Given the description of an element on the screen output the (x, y) to click on. 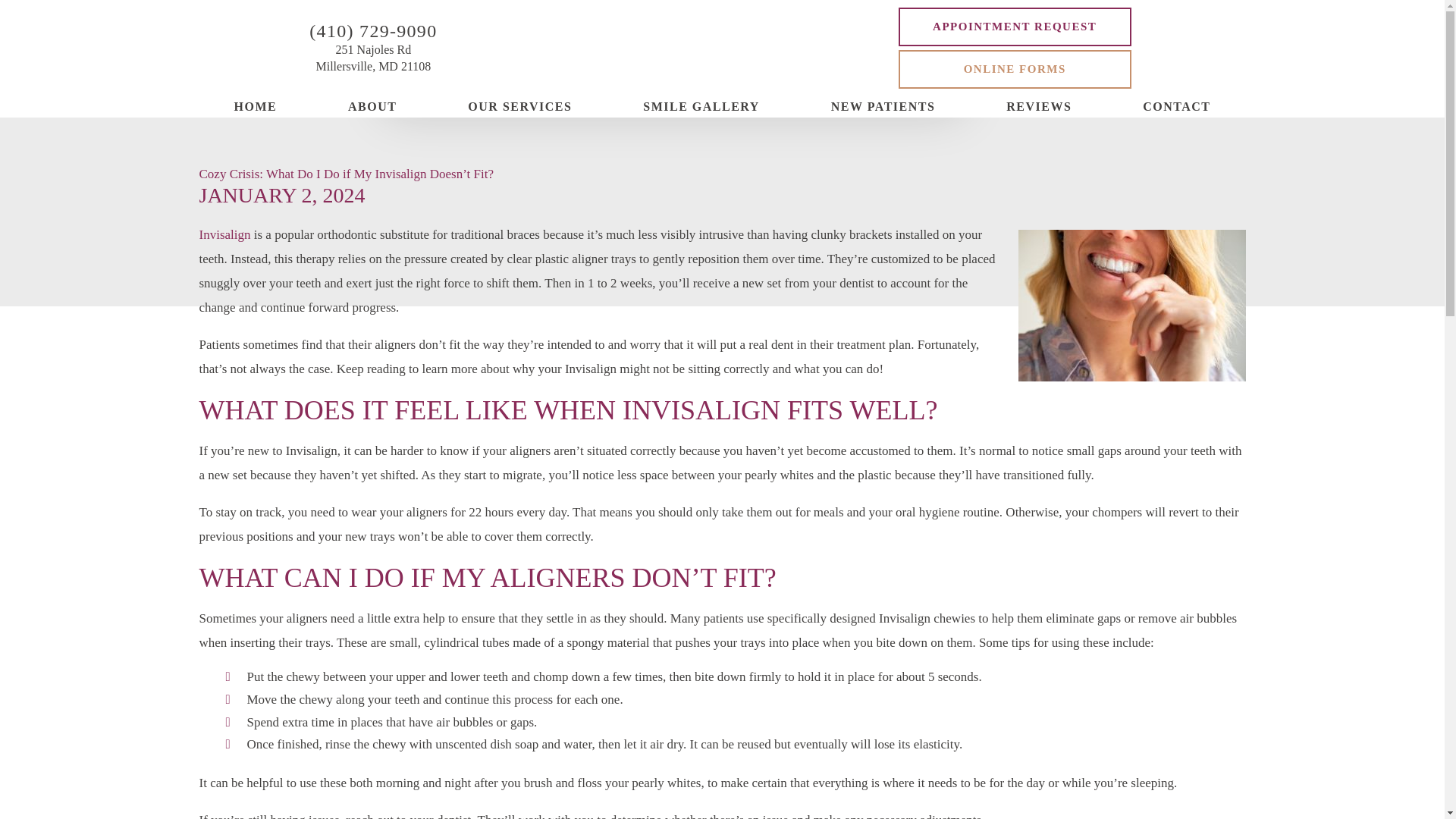
HOME (254, 106)
APPOINTMENT REQUEST (1014, 26)
ABOUT (372, 106)
ONLINE FORMS (1014, 68)
OUR SERVICES (372, 58)
